Given the description of an element on the screen output the (x, y) to click on. 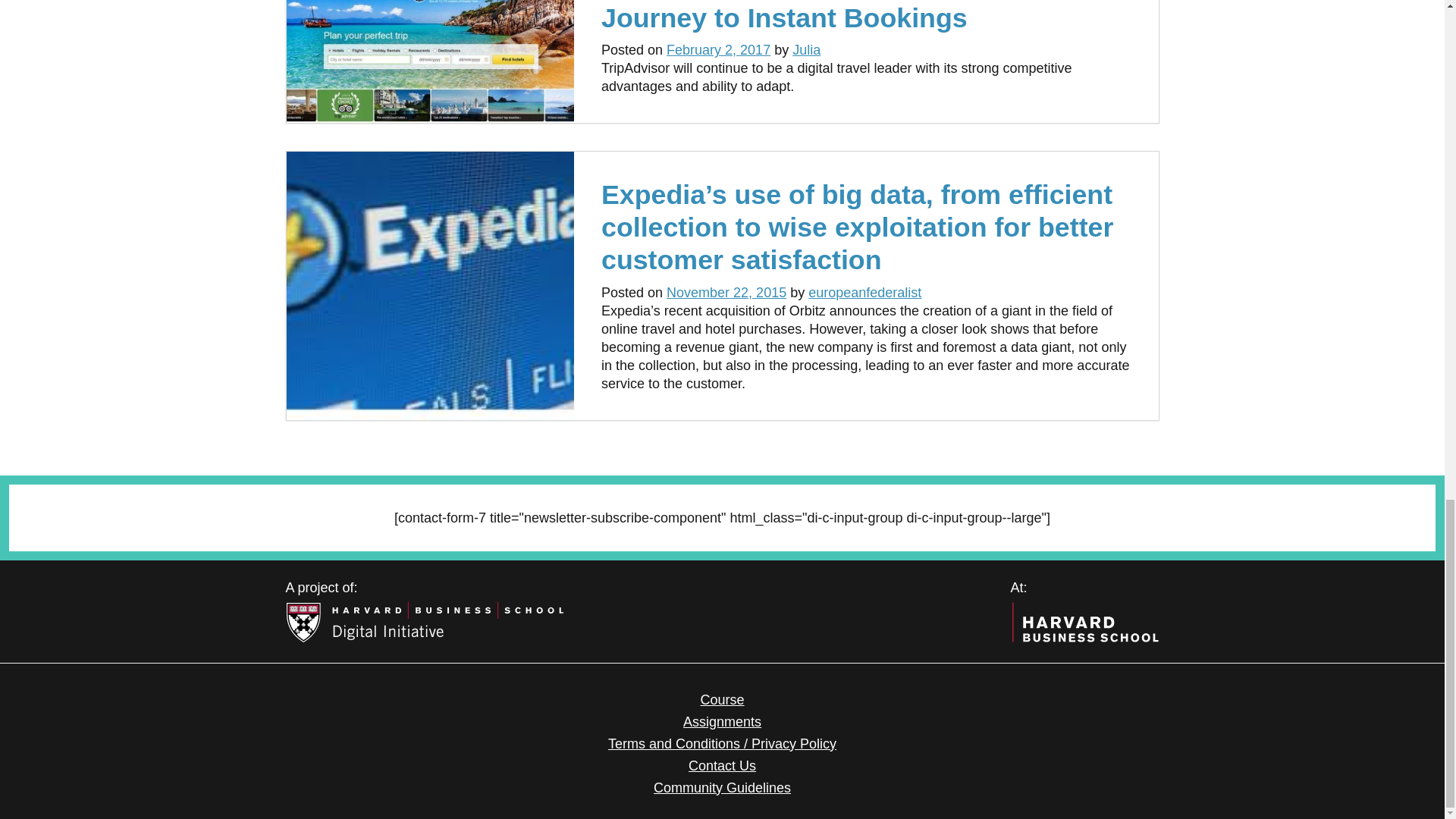
Julia (806, 49)
November 22, 2015 (726, 292)
Contact Us (721, 765)
Assignments (721, 721)
Community Guidelines (721, 787)
europeanfederalist (864, 292)
Course (722, 699)
February 2, 2017 (718, 49)
